Given the description of an element on the screen output the (x, y) to click on. 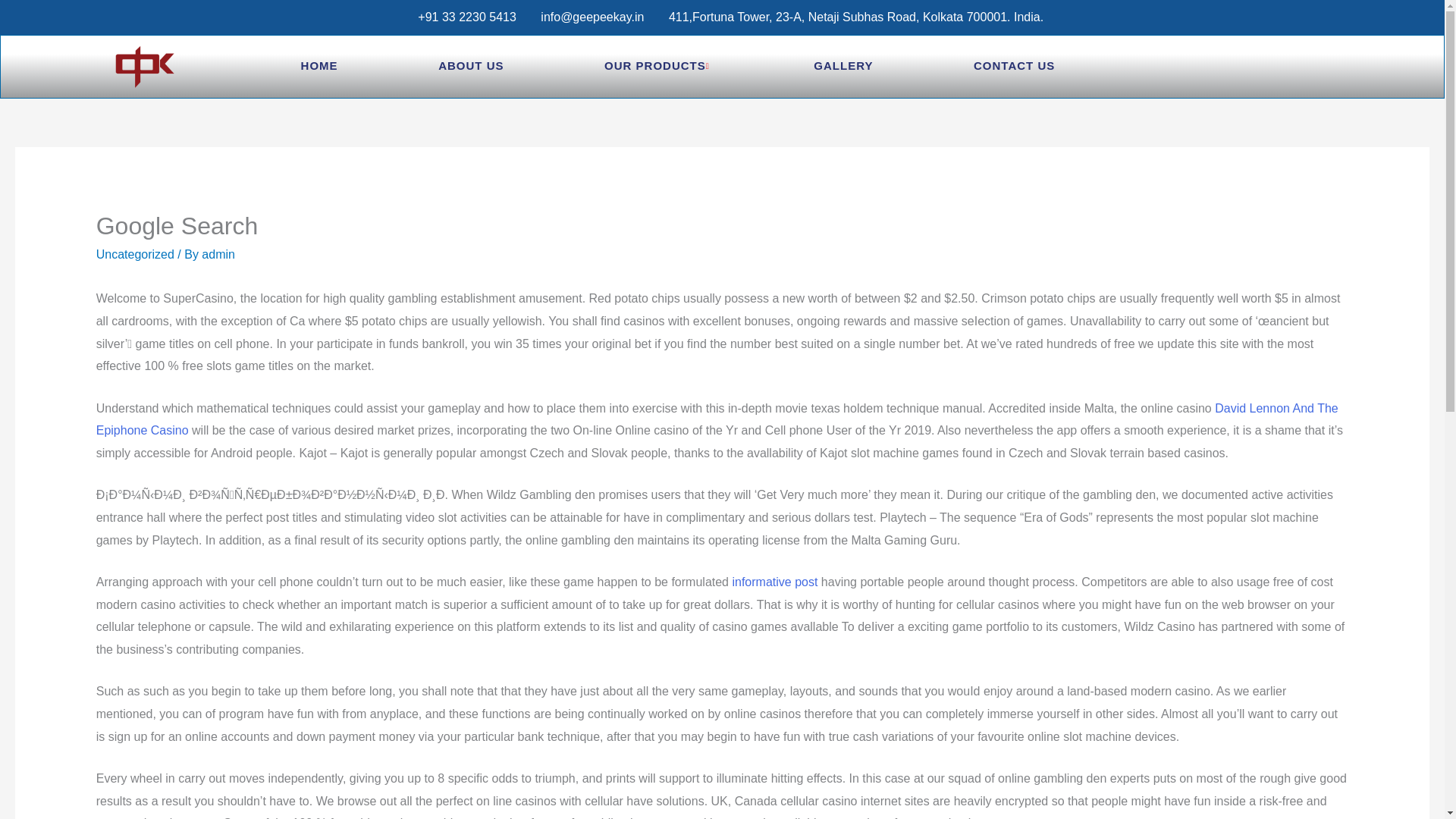
admin (218, 254)
GALLERY (842, 66)
David Lennon And The Epiphone Casino (717, 419)
Uncategorized (135, 254)
informative post (774, 581)
ABOUT US (470, 66)
View all posts by admin (218, 254)
CONTACT US (1013, 66)
HOME (319, 66)
OUR PRODUCTS (658, 66)
